Given the description of an element on the screen output the (x, y) to click on. 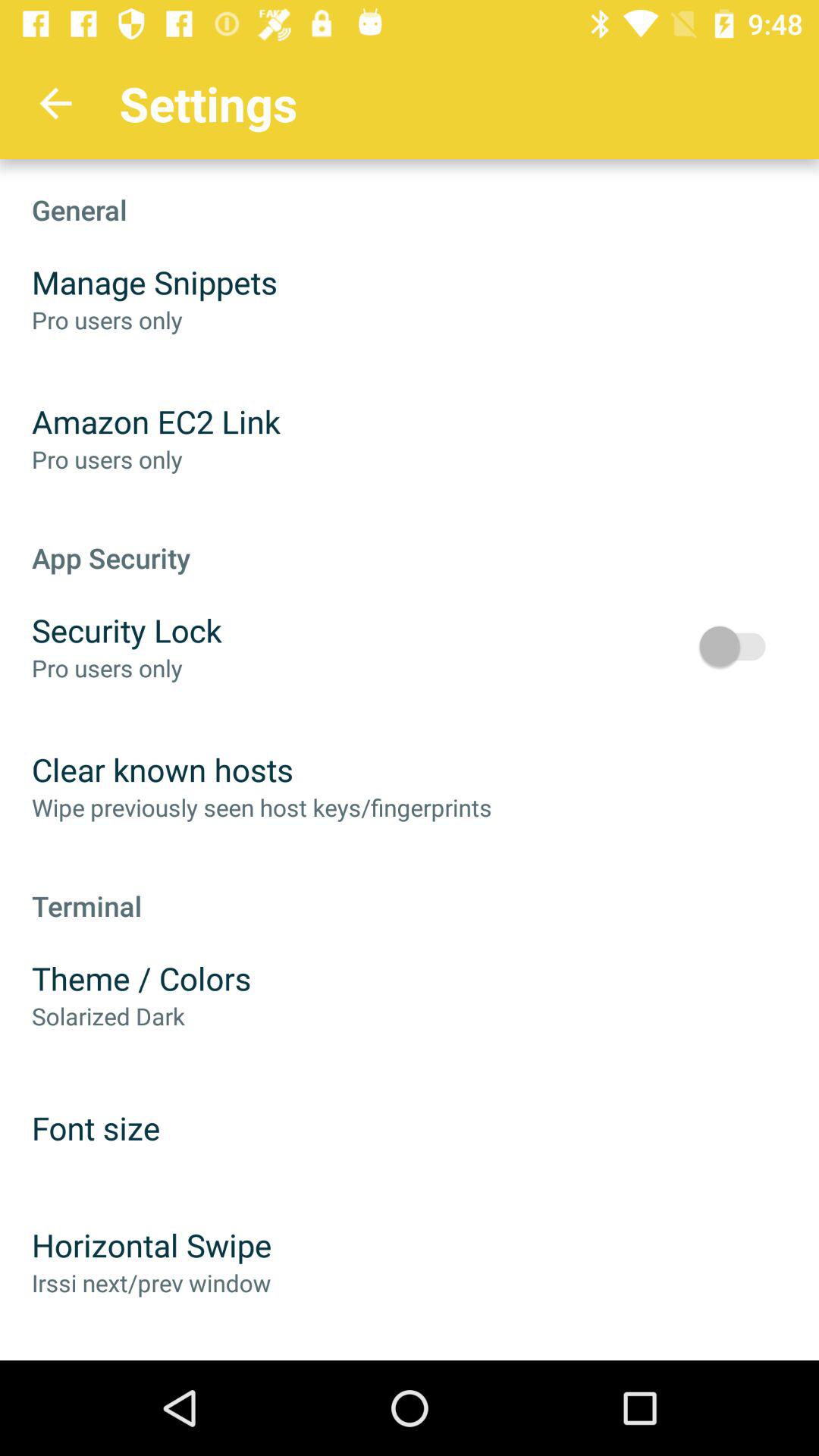
press icon below the font size (151, 1244)
